Given the description of an element on the screen output the (x, y) to click on. 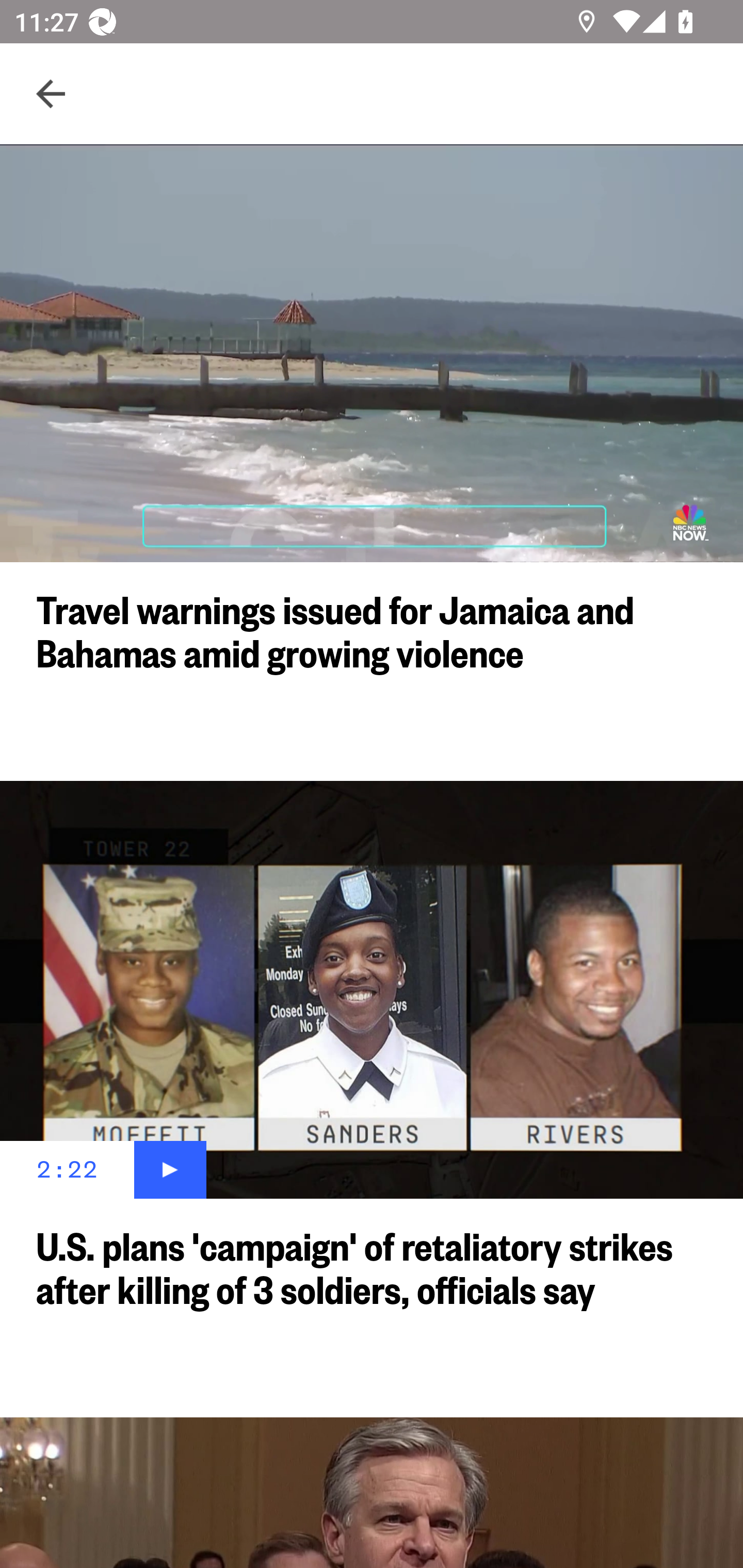
Navigate up (50, 93)
